Given the description of an element on the screen output the (x, y) to click on. 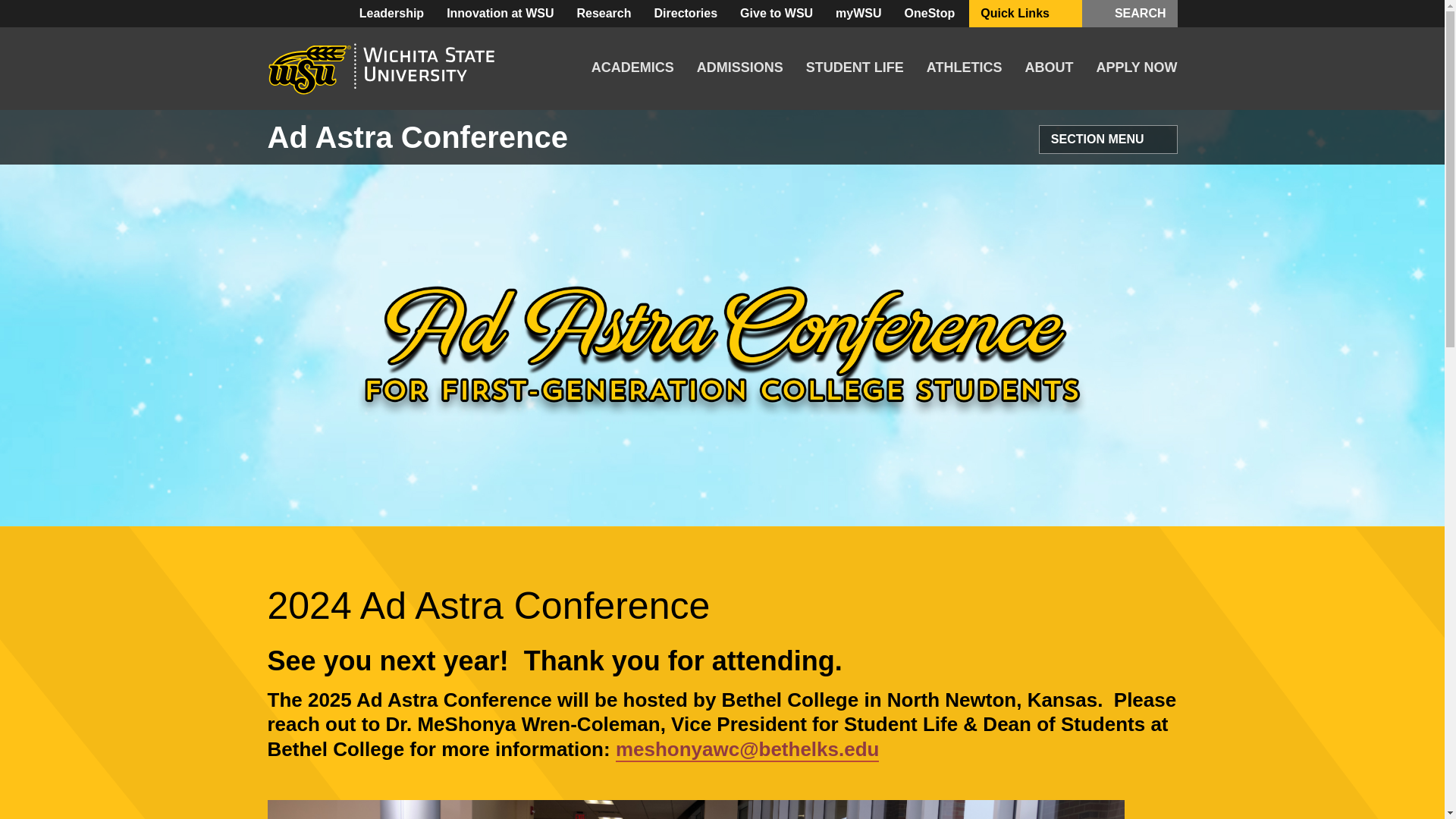
Research (603, 13)
Quick Links (1025, 13)
Open Section Links (1157, 139)
Directories (686, 13)
Open Search (1107, 13)
Innovation at WSU (499, 13)
Open Quicklinks (1063, 13)
myWSU (858, 13)
OneStop (929, 13)
SEARCH (1129, 13)
Leadership (391, 13)
Give to WSU (776, 13)
